Given the description of an element on the screen output the (x, y) to click on. 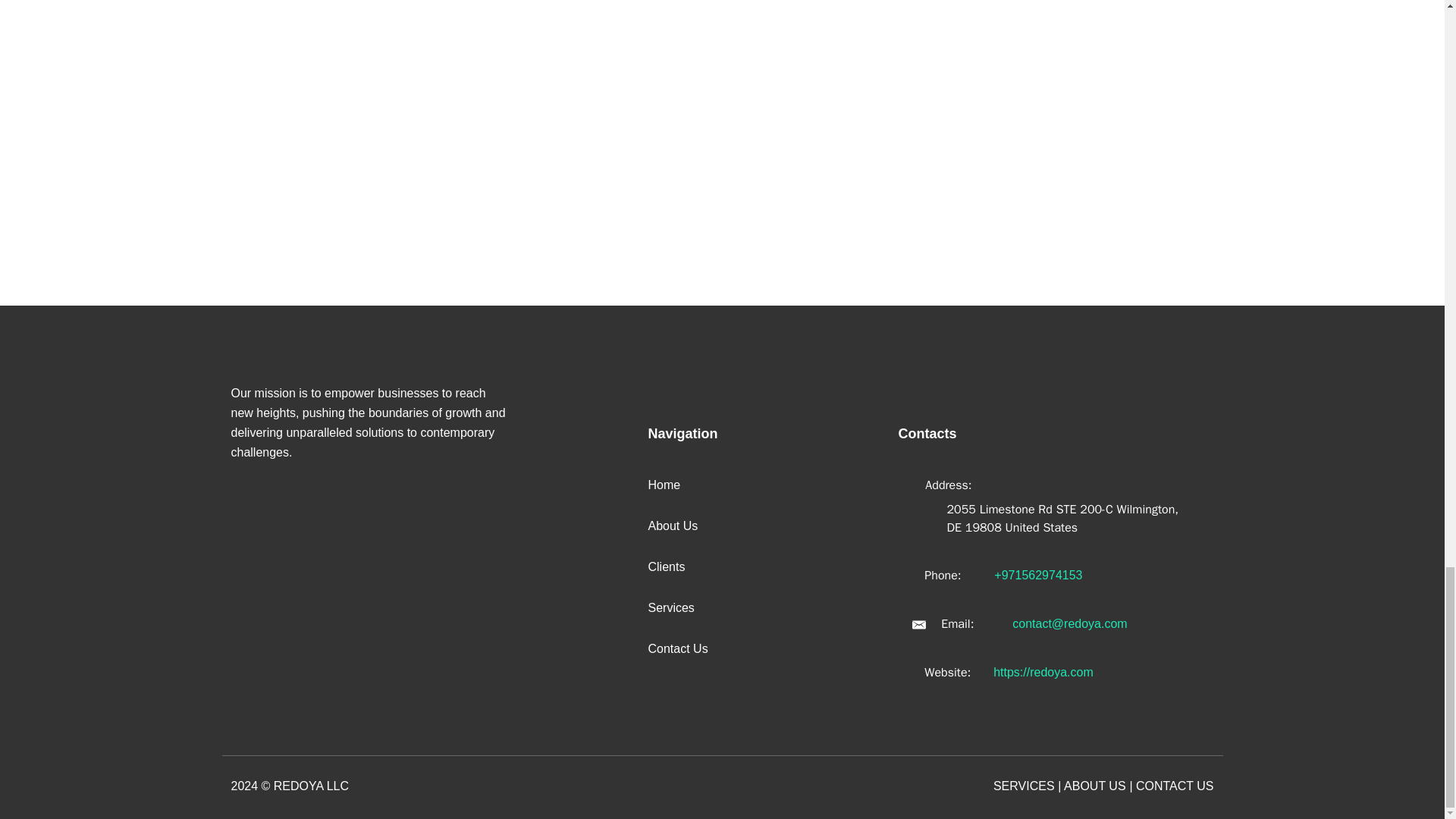
Home (663, 484)
SERVICES (1023, 785)
Contact Us (677, 648)
Clients (665, 566)
About Us (672, 525)
Services (670, 607)
